Given the description of an element on the screen output the (x, y) to click on. 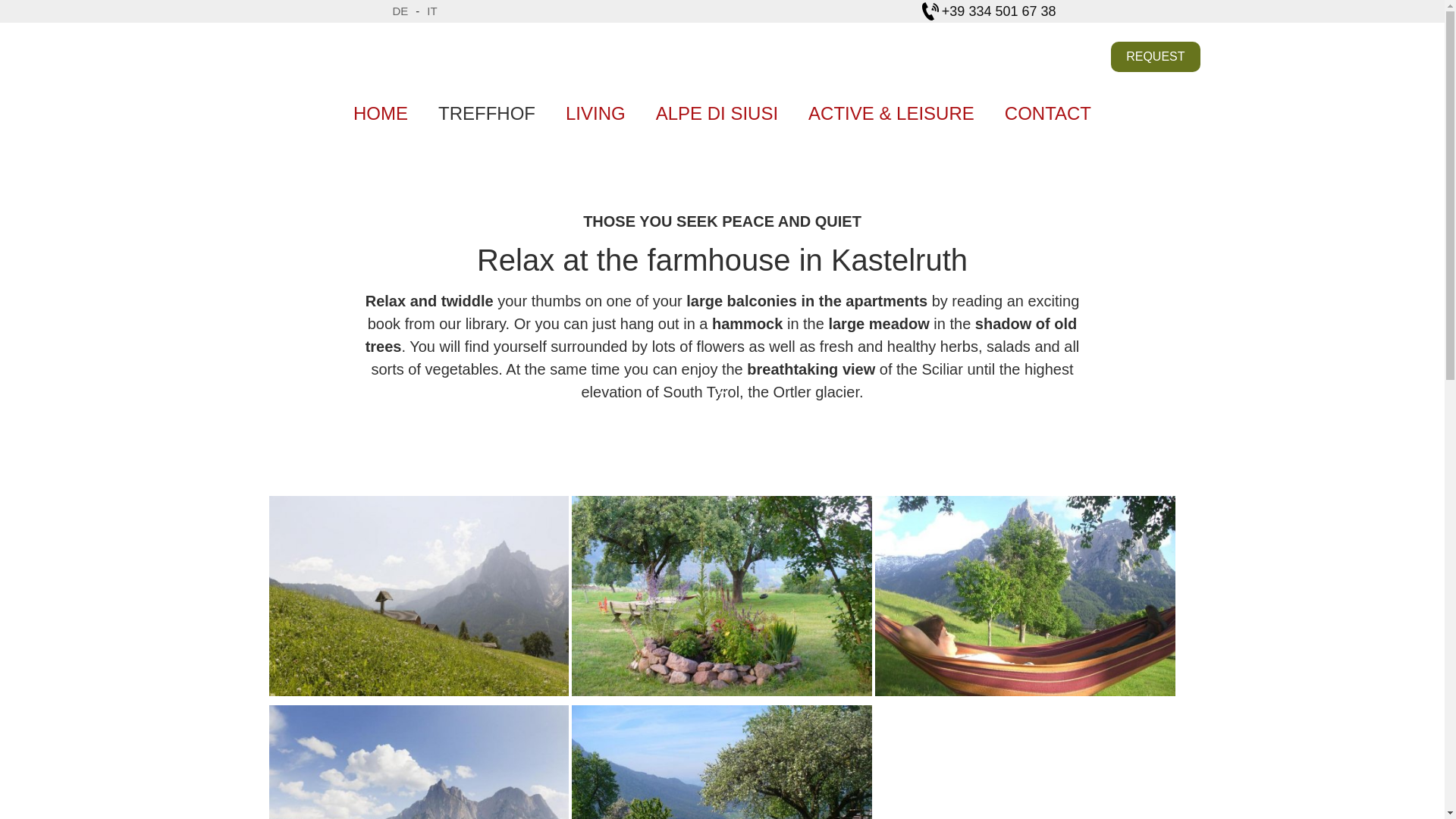
CONTACT (1047, 113)
ALPE DI SIUSI (716, 113)
HOME (380, 113)
Deutsch (400, 11)
relax (1024, 596)
REQUEST (1154, 56)
DE (400, 11)
Herbs (722, 596)
TREFFHOF (486, 113)
LIVING (596, 113)
